Given the description of an element on the screen output the (x, y) to click on. 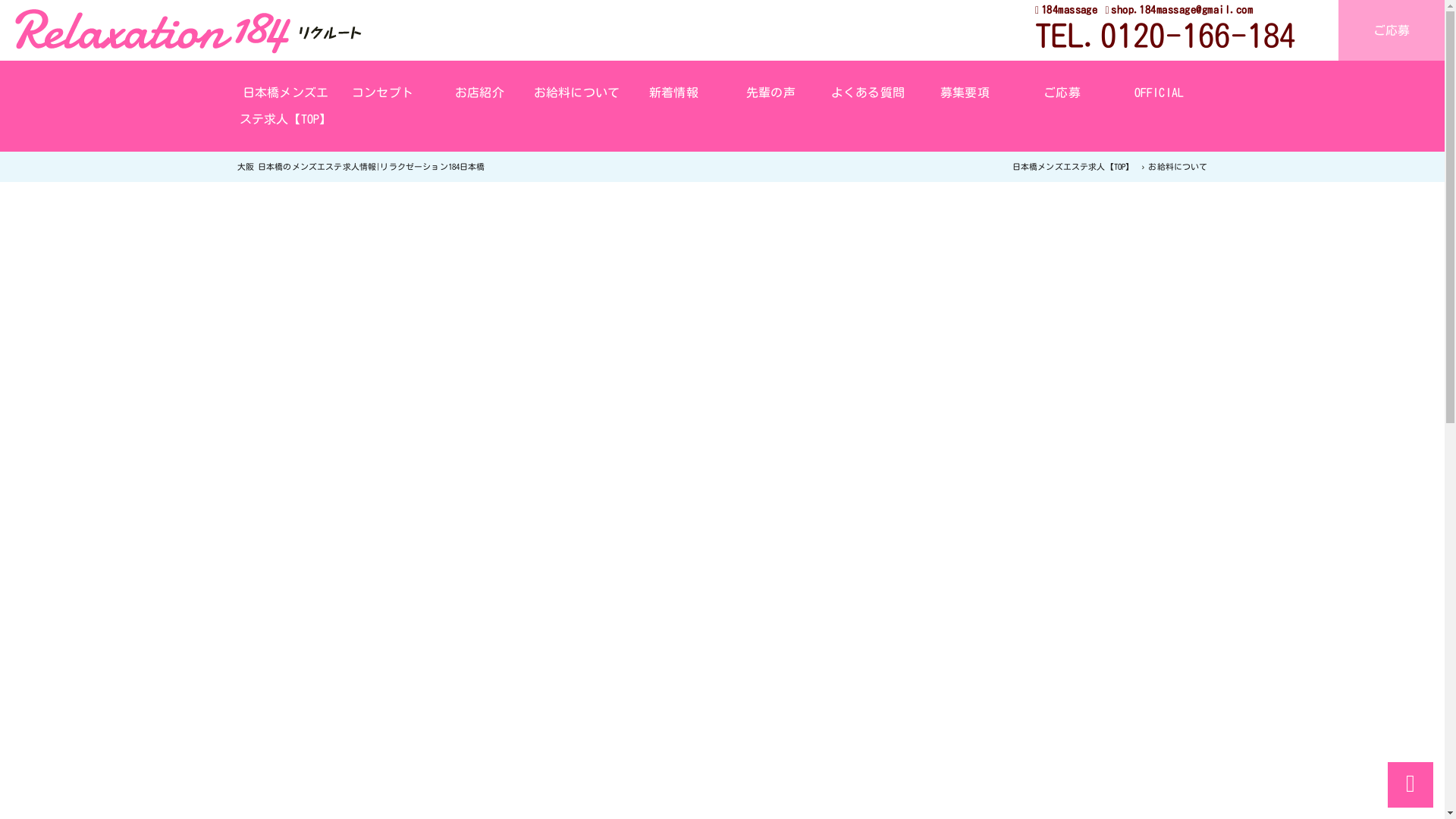
TEL.0120-166-184 Element type: text (1165, 34)
184massage Element type: text (1066, 9)
shop.184massage@gmail.com Element type: text (1178, 9)
OFFICIAL Element type: text (1158, 92)
